Given the description of an element on the screen output the (x, y) to click on. 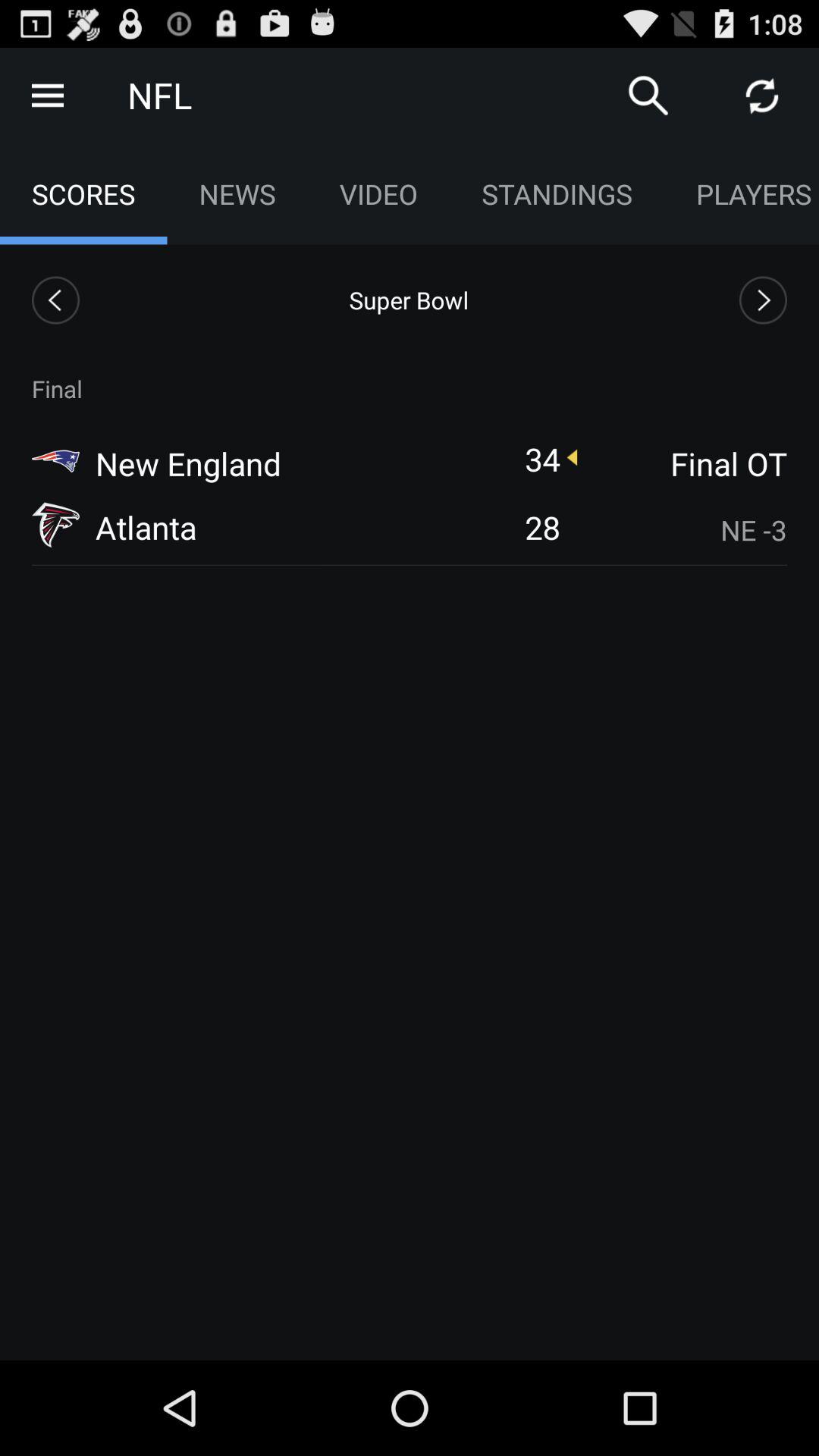
search (648, 95)
